Given the description of an element on the screen output the (x, y) to click on. 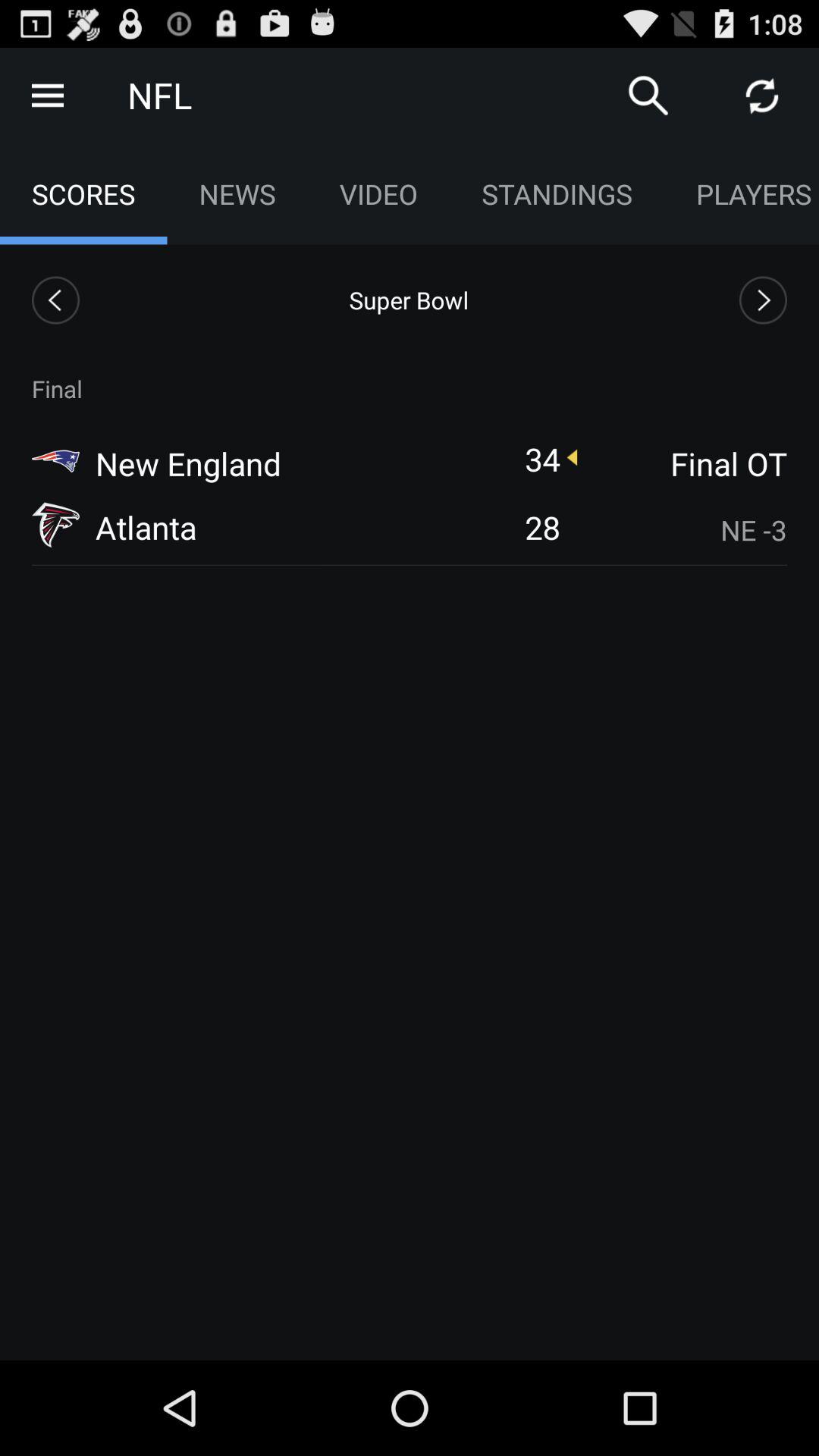
search (648, 95)
